Given the description of an element on the screen output the (x, y) to click on. 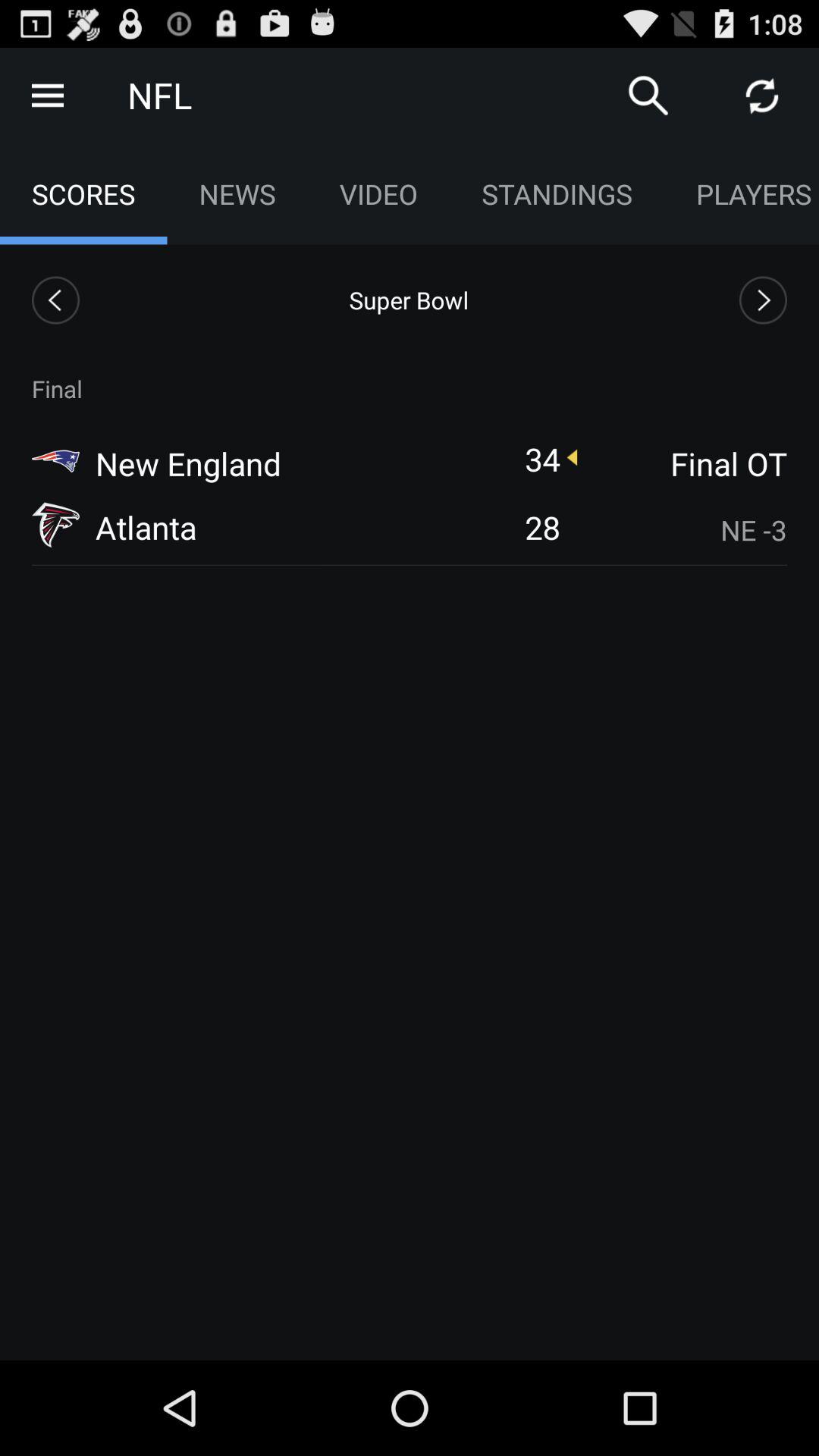
search (648, 95)
